Given the description of an element on the screen output the (x, y) to click on. 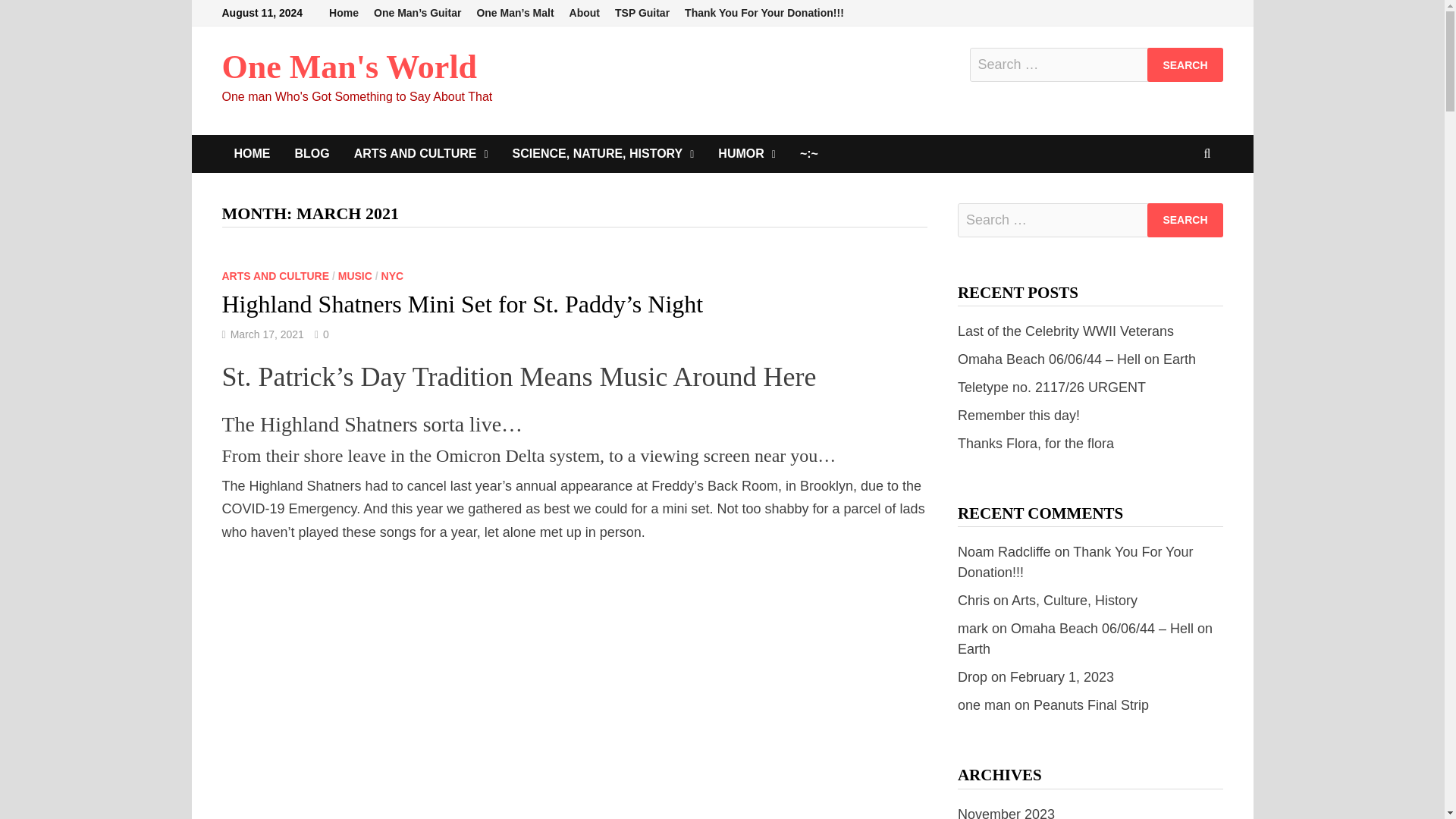
Reviews and Articles (421, 153)
Thank You For Your Donation!!! (764, 13)
HOME (251, 153)
About (584, 13)
TSP Guitar (642, 13)
Search (1185, 220)
One Man's World (349, 66)
Search (1185, 64)
Search (1185, 64)
BLOG (311, 153)
